Given the description of an element on the screen output the (x, y) to click on. 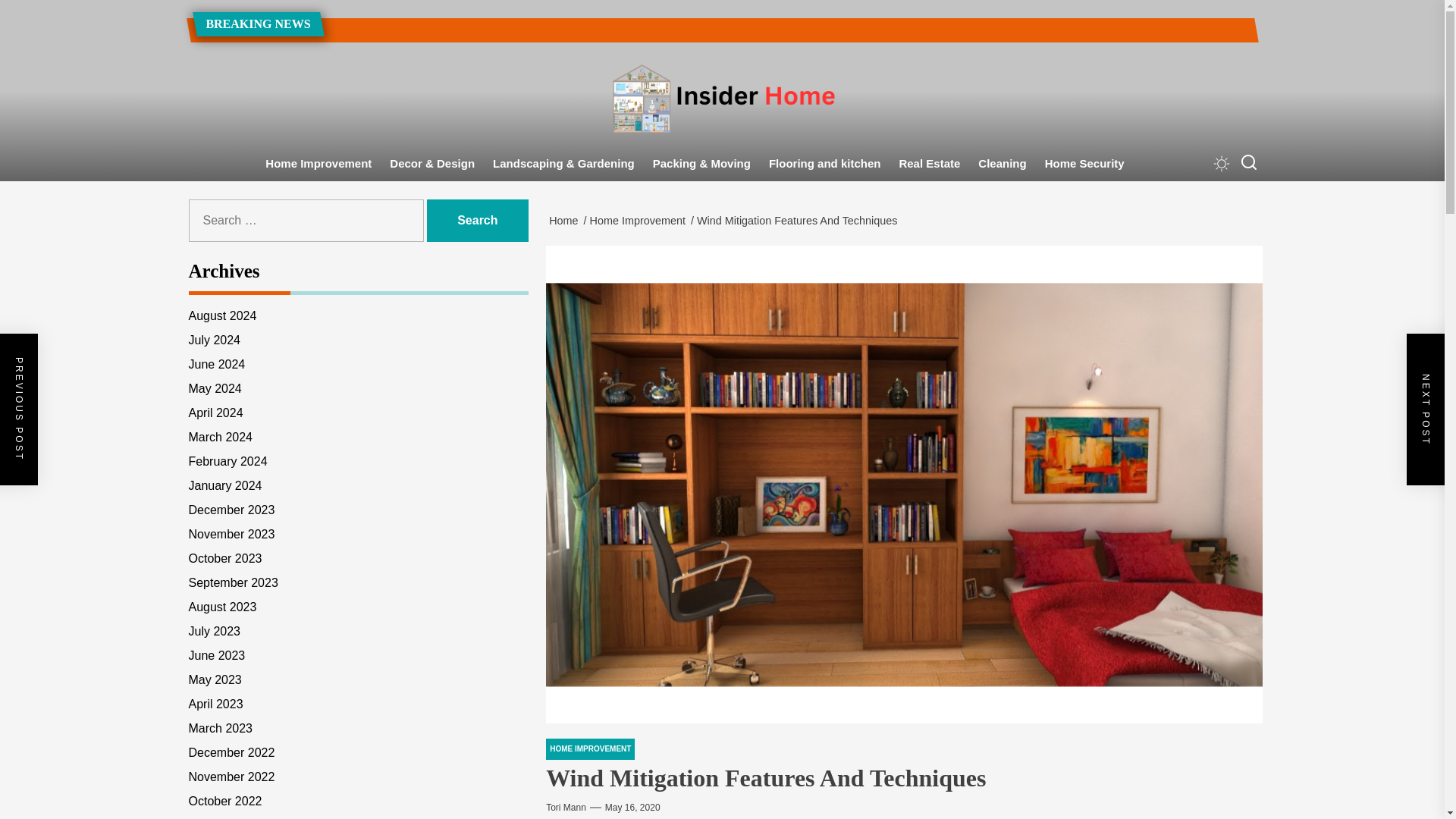
Home Improvement (318, 163)
Cleaning (1002, 163)
Home Improvement (640, 220)
Real Estate (929, 163)
Home (566, 220)
Home Security (1084, 163)
INSIDER HOME (604, 178)
Wind Mitigation Features And Techniques (799, 220)
Flooring and kitchen (824, 163)
Search (477, 220)
